Given the description of an element on the screen output the (x, y) to click on. 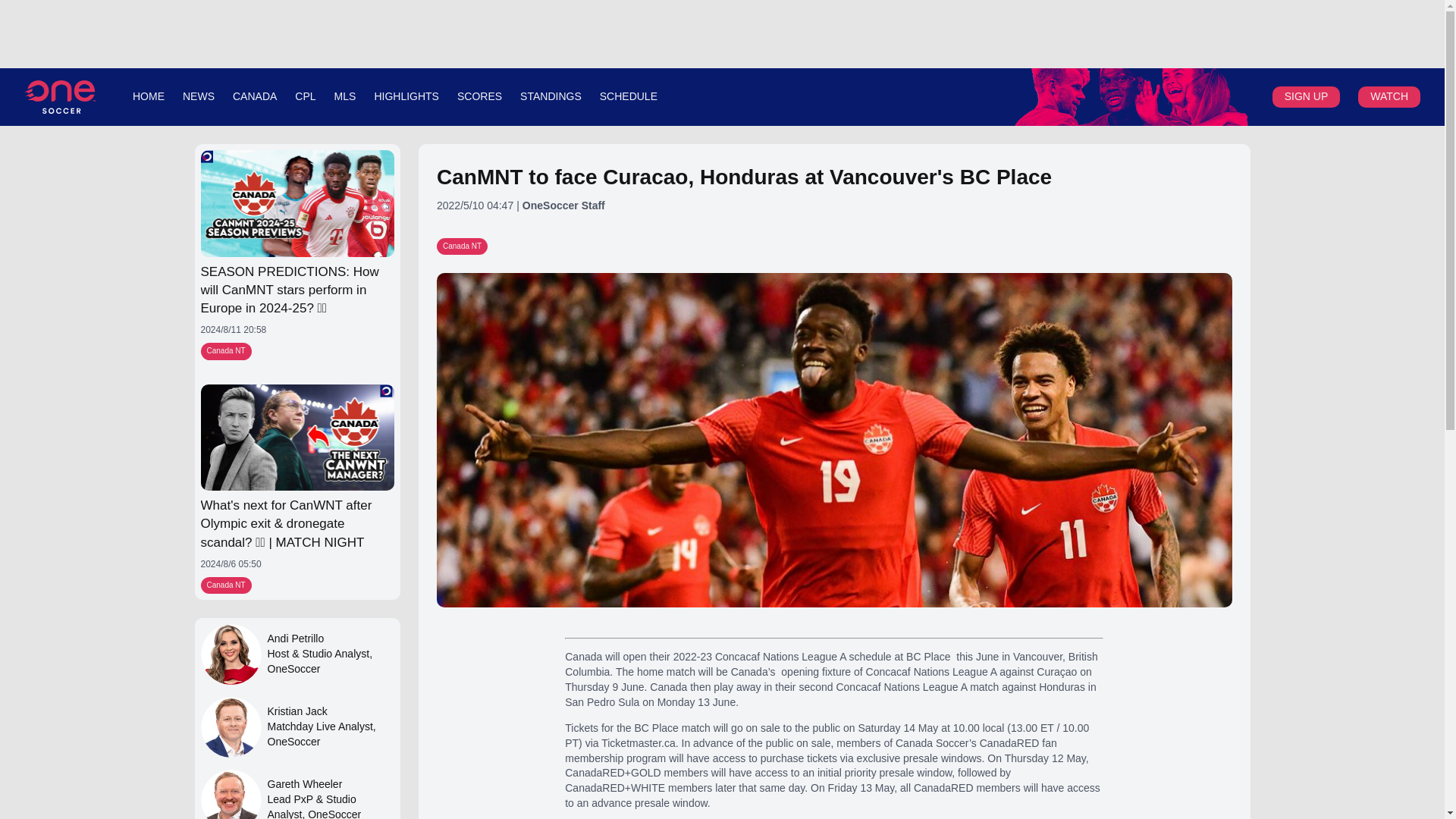
WATCH (1388, 96)
Canadian Premier League (1130, 96)
CANADA (254, 96)
SCORES (479, 96)
Kristian Jack (230, 726)
MLS (345, 96)
SIGN UP (1305, 96)
Andi Petrillo (230, 654)
NEWS (198, 96)
Andi Petrillo (329, 639)
